Given the description of an element on the screen output the (x, y) to click on. 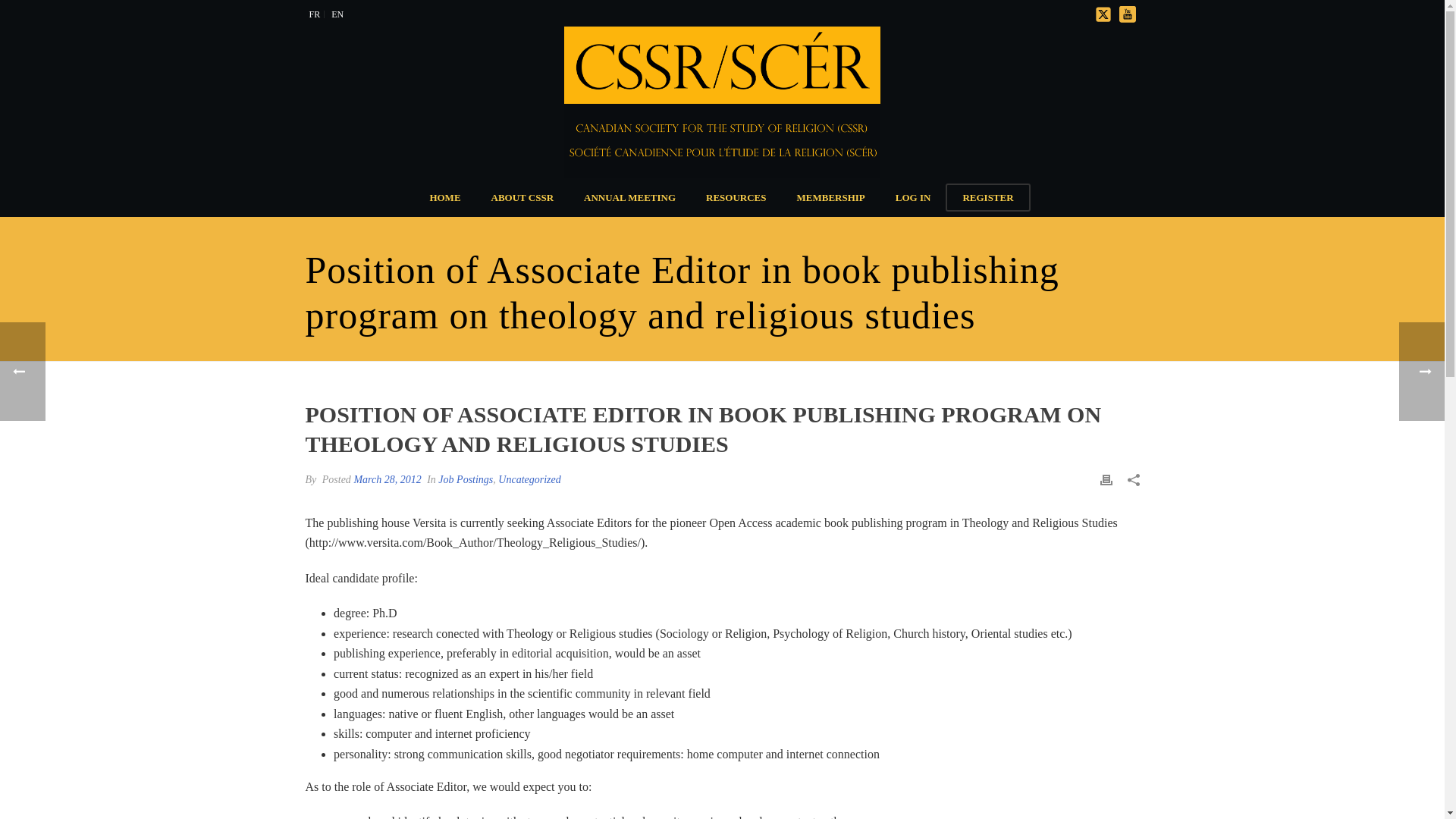
EN (337, 14)
RESOURCES (735, 197)
LOG IN (913, 197)
MEMBERSHIP (830, 197)
FR (314, 14)
ABOUT CSSR (522, 197)
ANNUAL MEETING (629, 197)
ABOUT CSSR (522, 197)
HOME (444, 197)
RESOURCES (735, 197)
REGISTER (986, 197)
HOME (444, 197)
ANNUAL MEETING (629, 197)
CSSRSCER (721, 102)
